Given the description of an element on the screen output the (x, y) to click on. 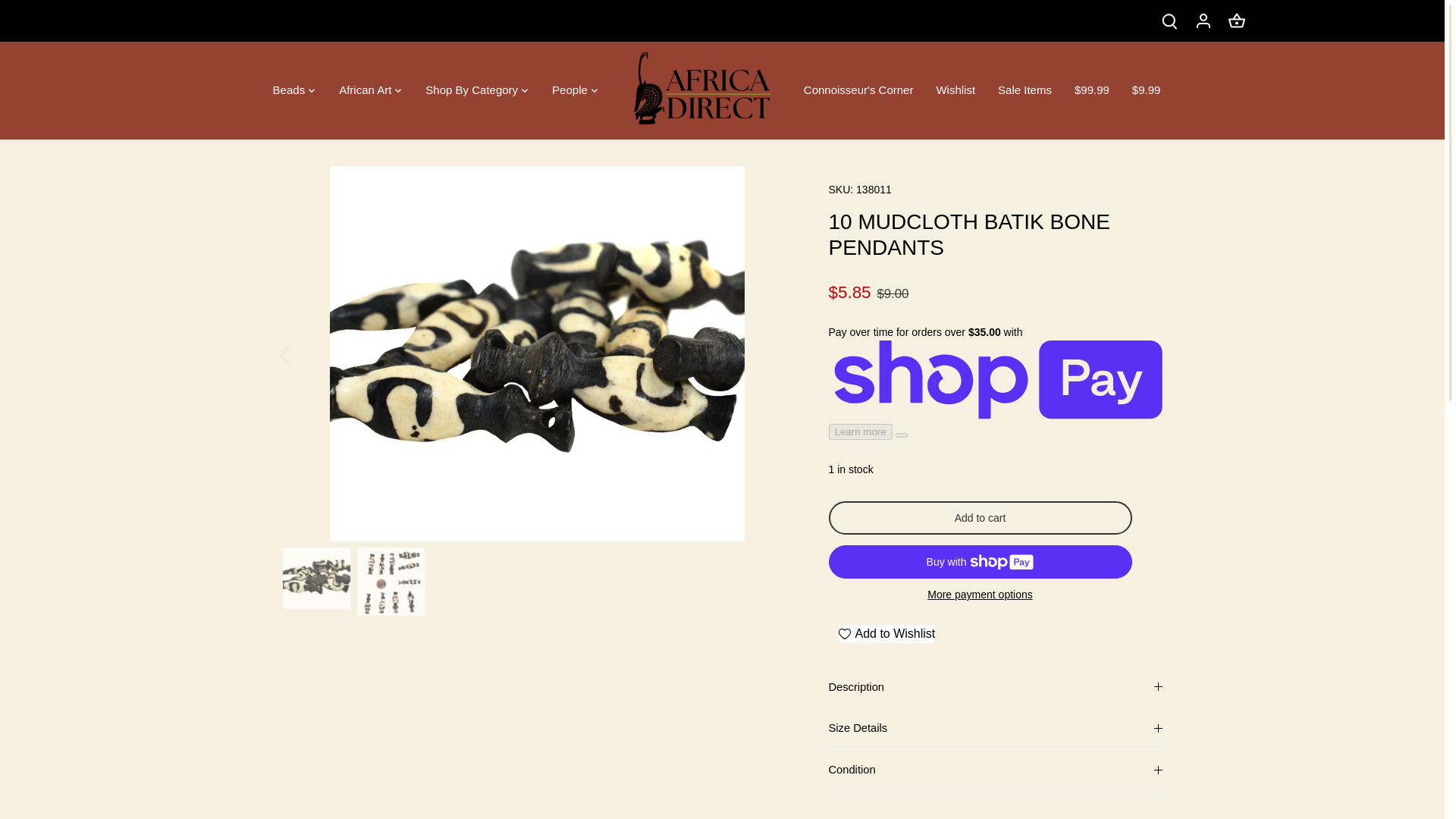
Shop By Category (471, 90)
Beads (295, 90)
African Art (365, 90)
People (569, 90)
